Given the description of an element on the screen output the (x, y) to click on. 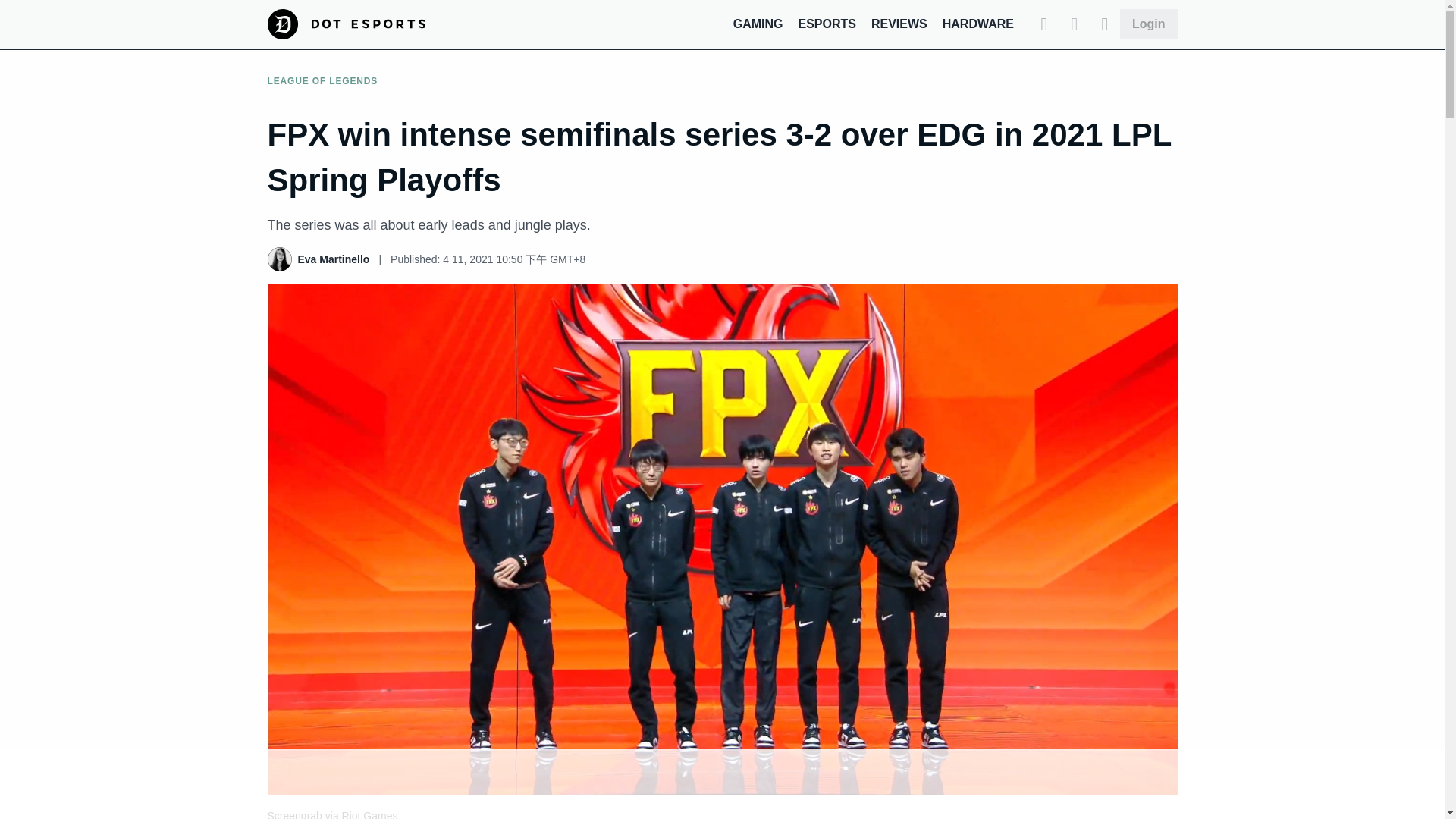
Search (1044, 24)
Dark Mode (1074, 24)
GAMING (758, 23)
Expand Menu (1104, 24)
Login (1148, 24)
REVIEWS (898, 23)
ESPORTS (826, 23)
HARDWARE (977, 23)
3rd party ad content (721, 785)
